Given the description of an element on the screen output the (x, y) to click on. 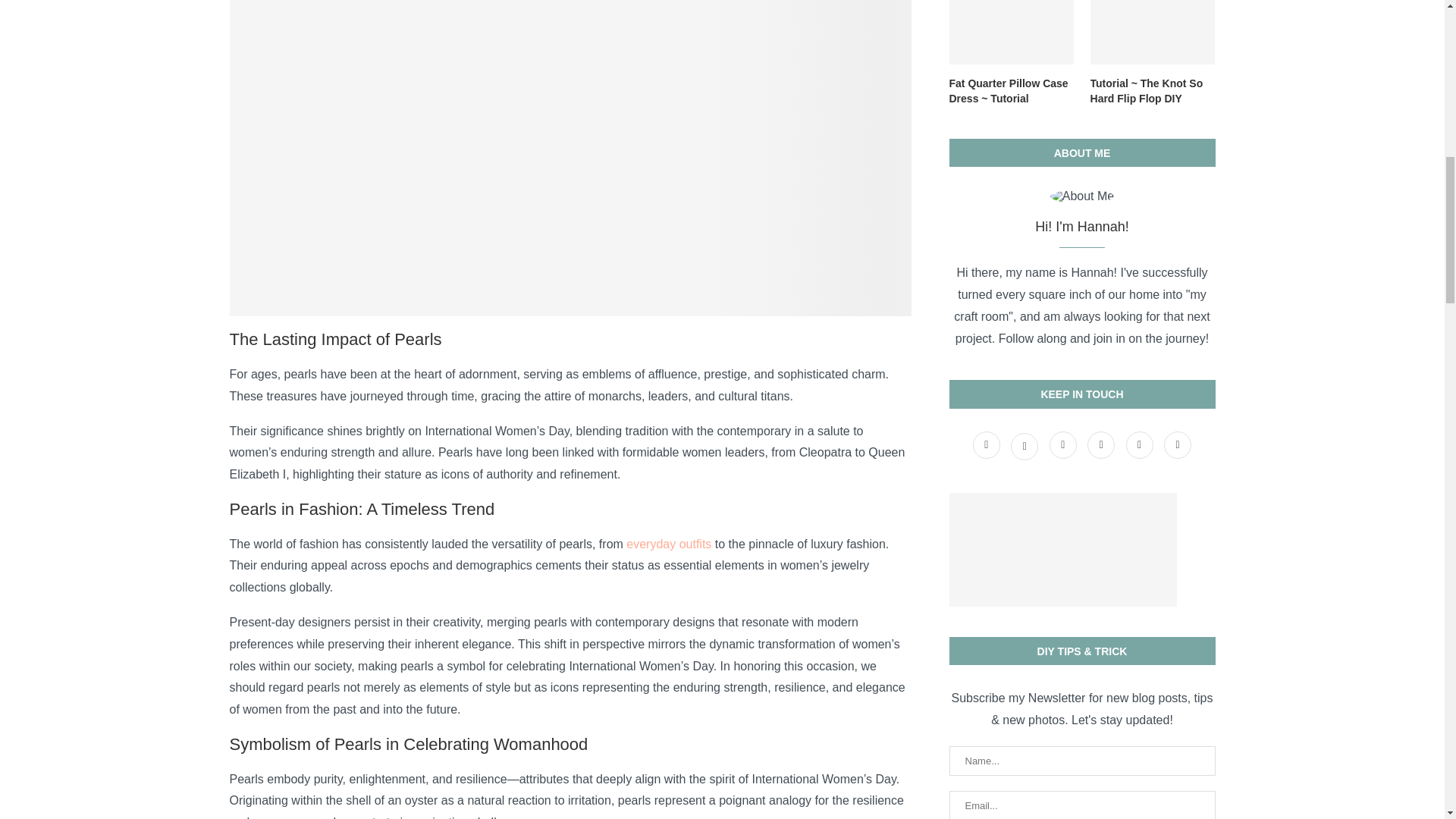
everyday outfits (668, 543)
